Given the description of an element on the screen output the (x, y) to click on. 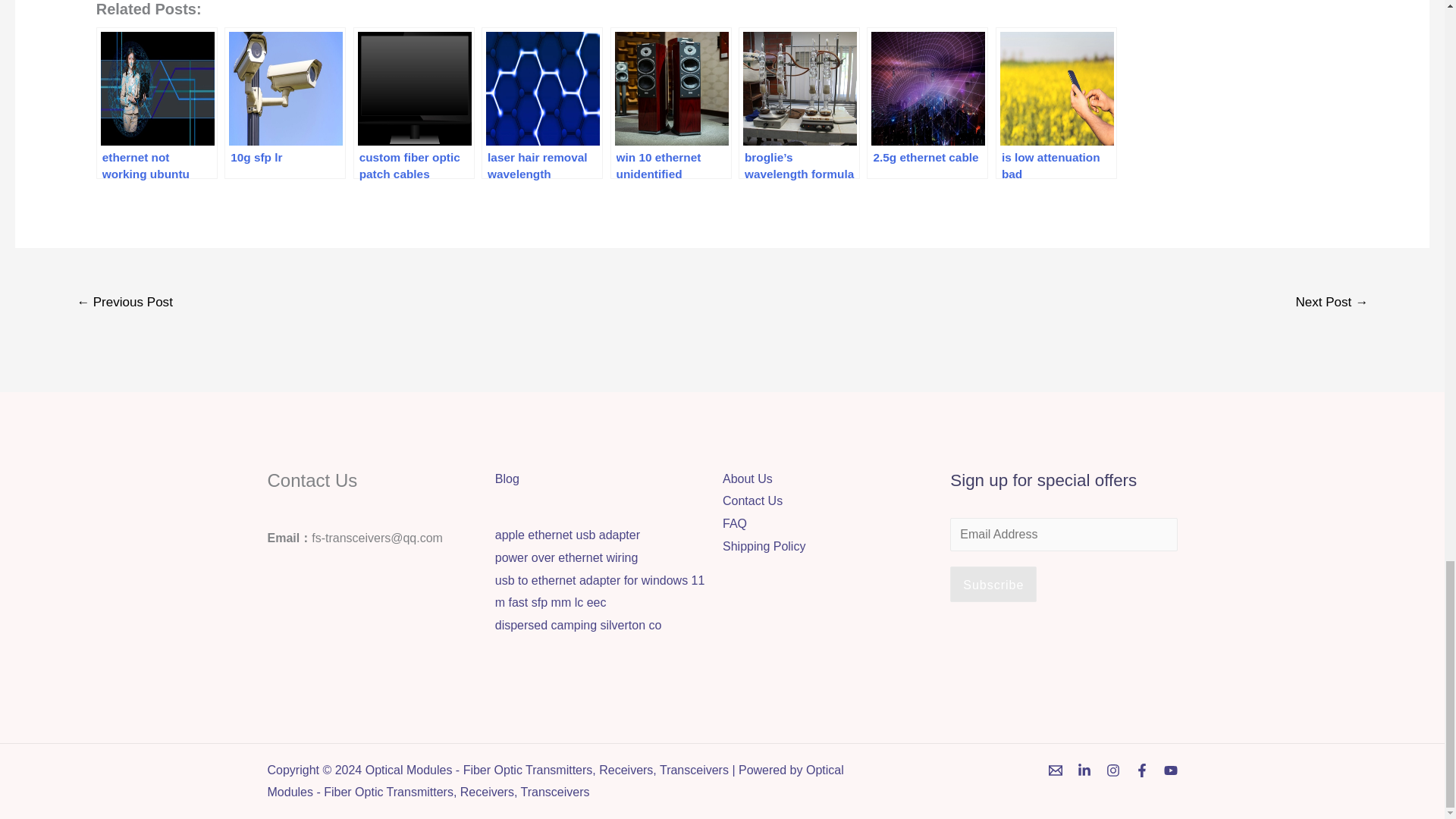
win 10 ethernet unidentified network (671, 103)
laser hair removal wavelength (541, 103)
10g sfp lr (285, 103)
ethernet not working ubuntu (156, 103)
2.5g ethernet cable (927, 103)
custom fiber optic patch cables (413, 103)
is low attenuation bad (1055, 103)
